Given the description of an element on the screen output the (x, y) to click on. 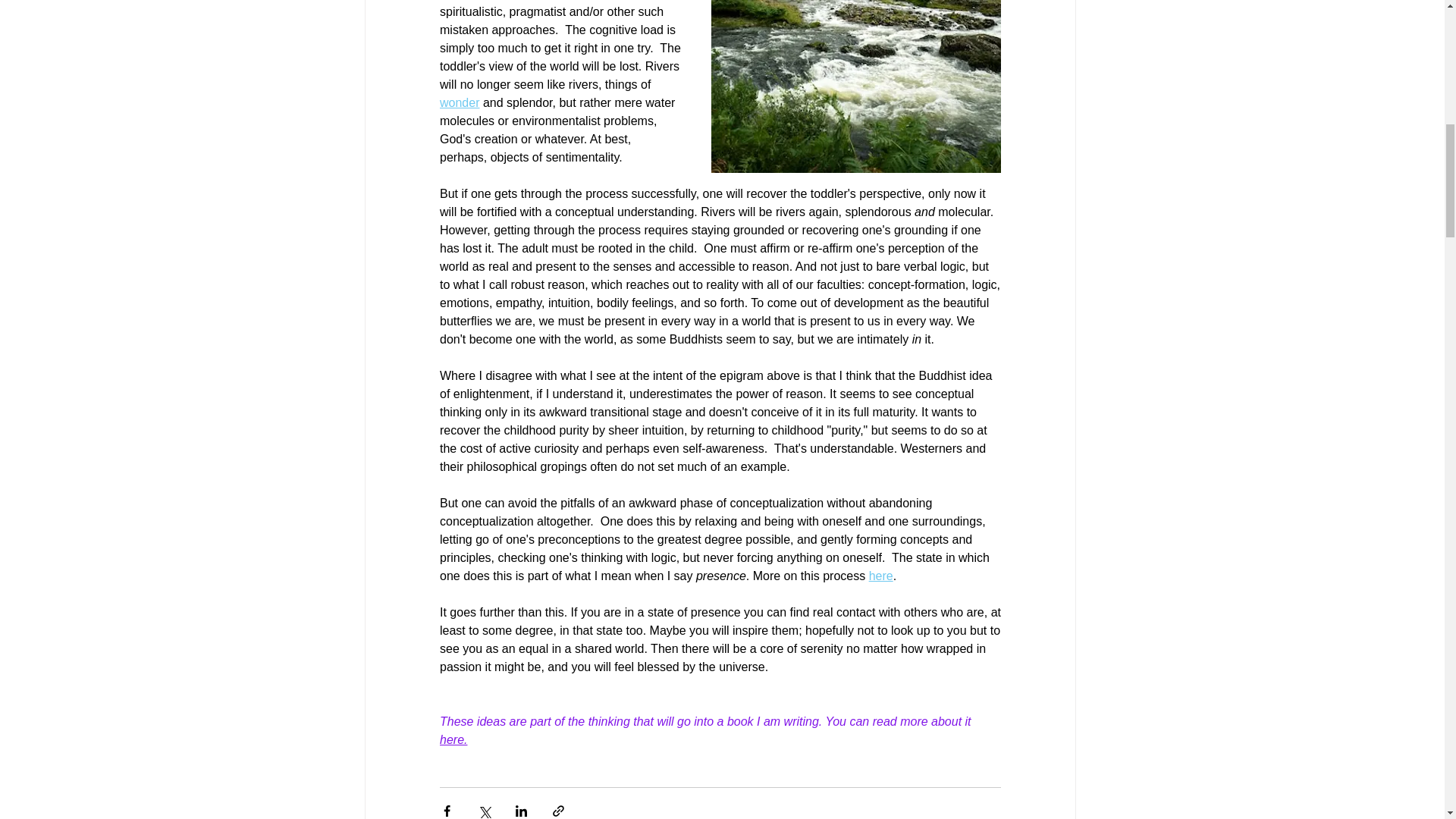
wonder (459, 102)
here (879, 575)
here. (453, 739)
